Given the description of an element on the screen output the (x, y) to click on. 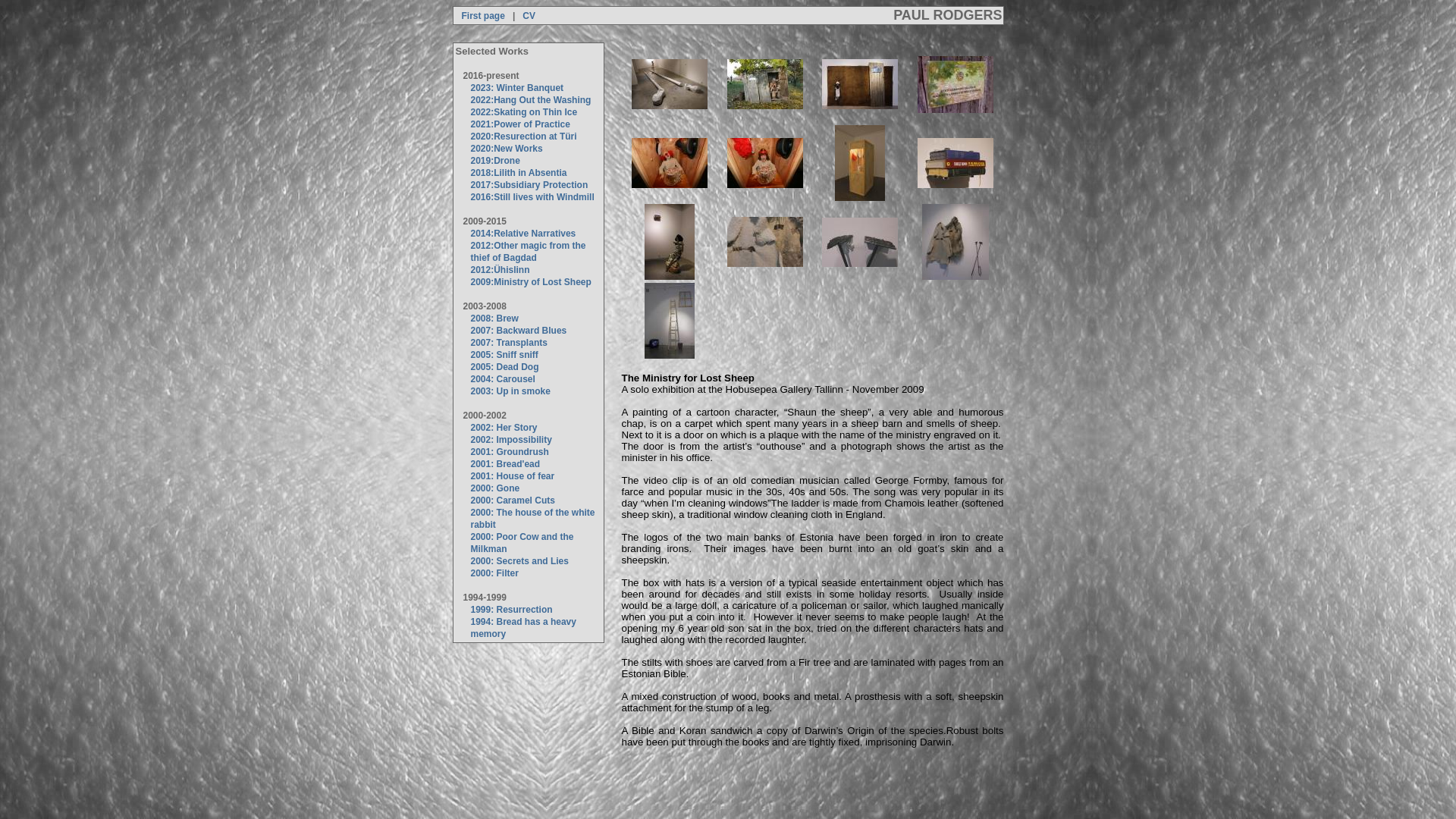
2007: Backward Blues (518, 330)
2009:Ministry of Lost Sheep (530, 281)
2022:Skating on Thin Ice (523, 112)
2012:Other magic from the thief of Bagdad (527, 251)
2016:Still lives with Windmill (532, 196)
2017:Subsidiary Protection (529, 184)
2020:New Works (505, 148)
2021:Power of Practice (519, 123)
2019:Drone (494, 160)
2000: Poor Cow and the Milkman (521, 542)
